Given the description of an element on the screen output the (x, y) to click on. 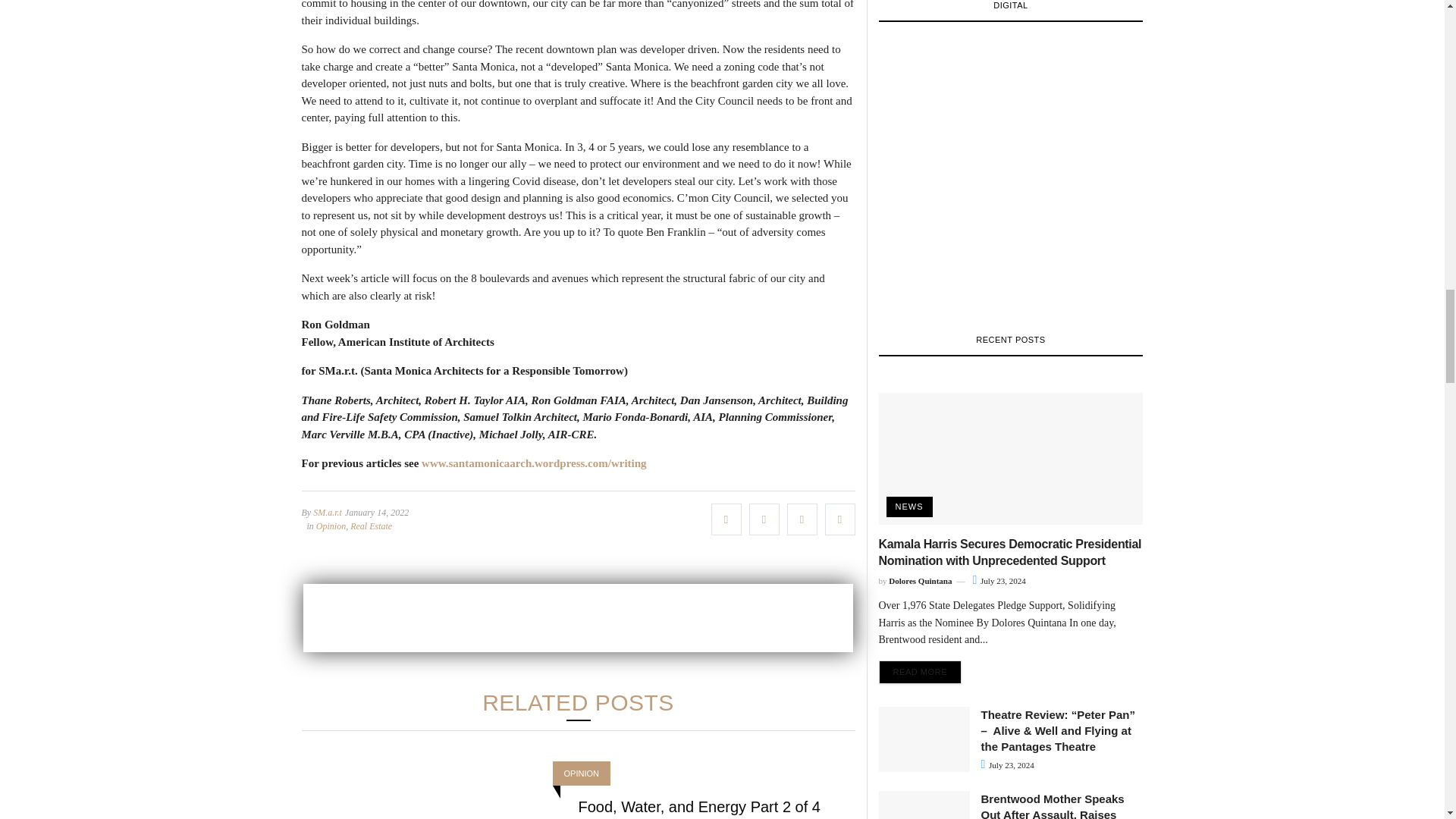
Posts by SM.a.r.t (327, 511)
Opinion (330, 525)
Real Estate (370, 525)
Food, Water, and Energy Part 2 of 4 (698, 805)
3rd party ad content (577, 617)
SM.a.r.t (327, 511)
